Given the description of an element on the screen output the (x, y) to click on. 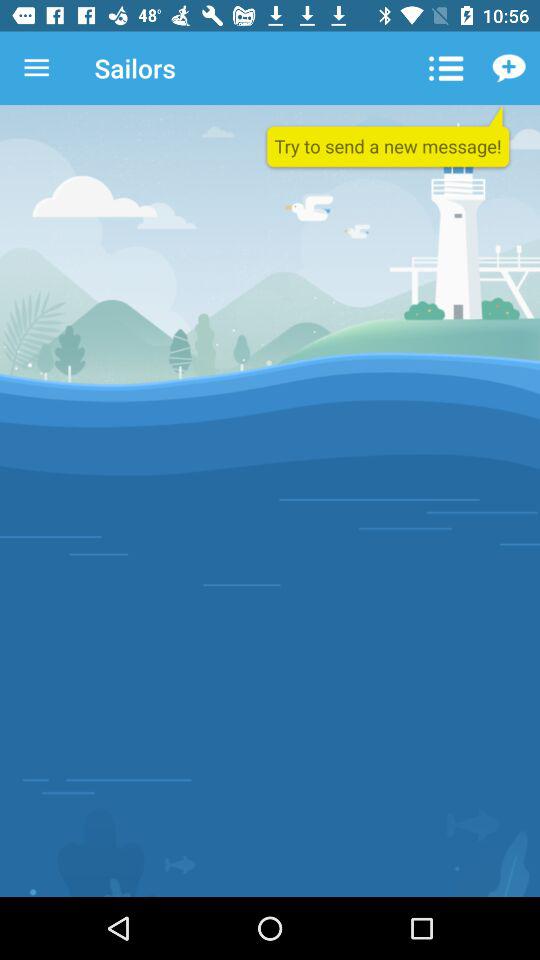
tap item next to the sailors (36, 68)
